Given the description of an element on the screen output the (x, y) to click on. 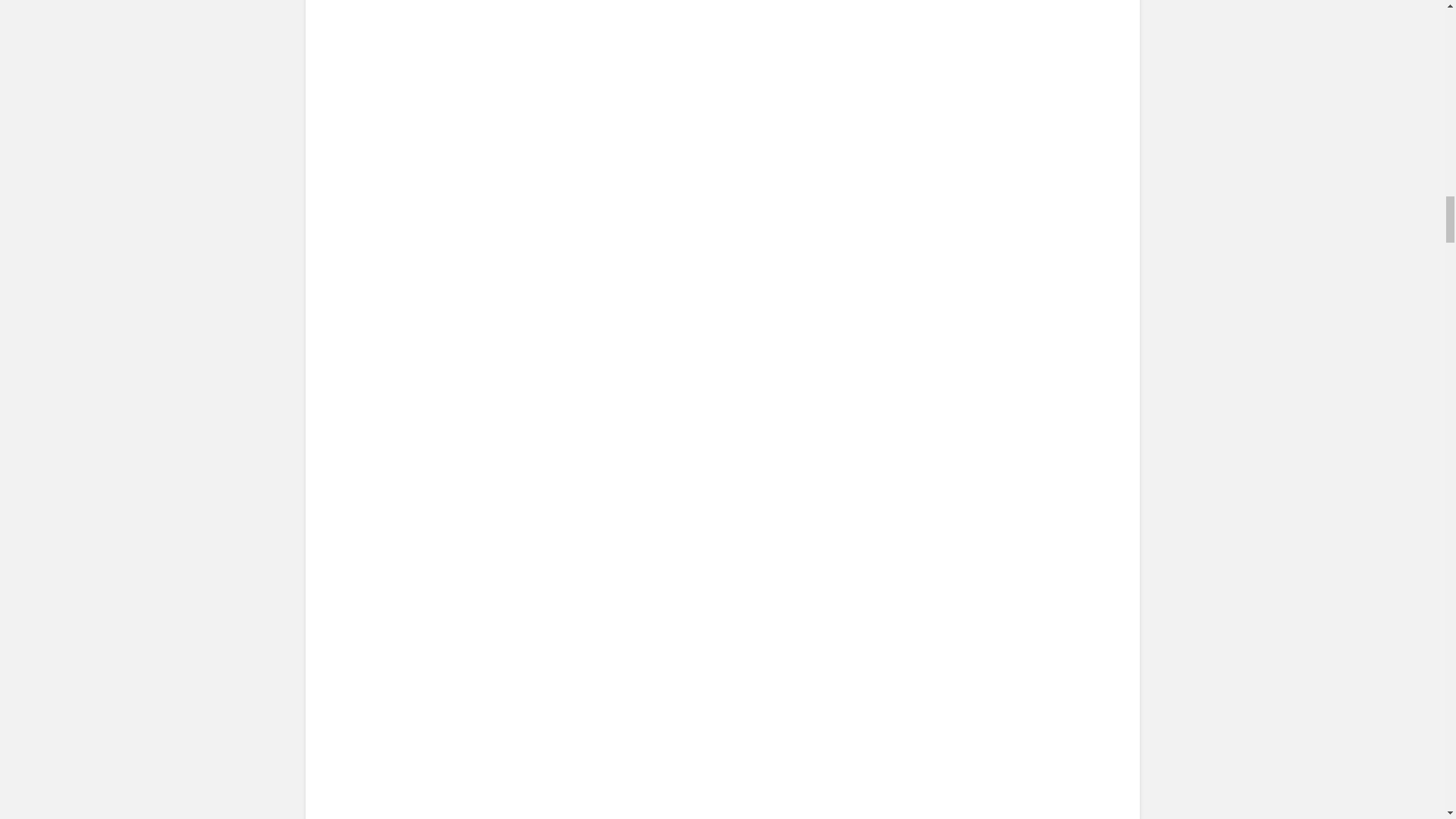
5. Planning (616, 106)
6. Setting up the work area (465, 327)
